Given the description of an element on the screen output the (x, y) to click on. 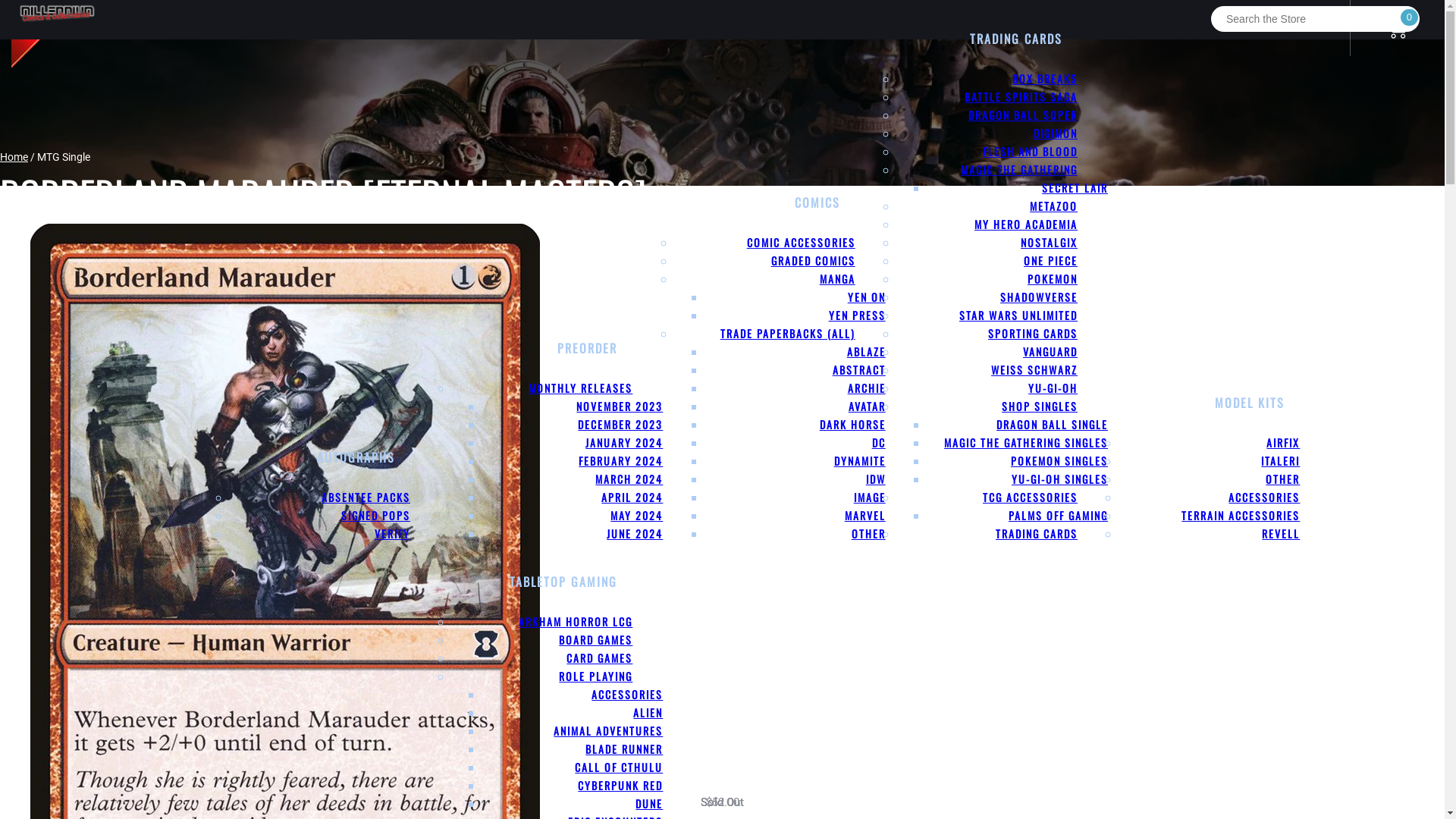
ANIMAL ADVENTURES Element type: text (607, 730)
ARCHIE Element type: text (866, 387)
MANGA Element type: text (837, 278)
AVATAR Element type: text (866, 406)
IMAGE Element type: text (869, 497)
WEISS SCHWARZ Element type: text (1034, 369)
IDW Element type: text (875, 478)
COMICS Element type: text (819, 202)
YEN ON Element type: text (866, 296)
MODEL KITS Element type: text (1251, 402)
AUTOGRAPHS Element type: text (357, 457)
JUNE 2024 Element type: text (634, 533)
DRAGON BALL SUPER Element type: text (1022, 114)
ABSTRACT Element type: text (858, 369)
Home Element type: text (14, 156)
BLADE RUNNER Element type: text (623, 748)
ABSENTEE PACKS Element type: text (365, 497)
ARKHAM HORROR LCG Element type: text (575, 621)
YU-GI-OH SINGLES Element type: text (1059, 478)
DUNE Element type: text (648, 803)
YEN PRESS Element type: text (856, 315)
CYBERPUNK RED Element type: text (619, 785)
OTHER Element type: text (868, 533)
SIGNED POPS Element type: text (375, 515)
TRADING CARDS Element type: text (1018, 38)
POKEMON SINGLES Element type: text (1058, 460)
CARD GAMES Element type: text (599, 657)
VANGUARD Element type: text (1049, 351)
JANUARY 2024 Element type: text (623, 442)
MAGIC THE GATHERING Element type: text (1018, 169)
STAR WARS UNLIMITED Element type: text (1018, 315)
TABLETOP GAMING Element type: text (565, 581)
DYNAMITE Element type: text (859, 460)
ABLAZE Element type: text (866, 351)
BOX BREAKS Element type: text (1044, 78)
PREORDER Element type: text (589, 347)
POKEMON Element type: text (1052, 278)
BOARD GAMES Element type: text (595, 639)
DC Element type: text (878, 442)
MONTHLY RELEASES Element type: text (580, 387)
MARVEL Element type: text (864, 515)
YU-GI-OH Element type: text (1052, 387)
PALMS OFF GAMING Element type: text (1057, 515)
APRIL 2024 Element type: text (631, 497)
AIRFIX Element type: text (1282, 442)
ITALERI Element type: text (1280, 460)
TERRAIN ACCESSORIES Element type: text (1240, 515)
BATTLE SPIRITS SAGA Element type: text (1020, 96)
SECRET LAIR Element type: text (1074, 187)
MARCH 2024 Element type: text (628, 478)
ROLE PLAYING Element type: text (595, 676)
SHOP SINGLES Element type: text (1039, 406)
TCG ACCESSORIES Element type: text (1029, 497)
OTHER Element type: text (1282, 478)
FLESH AND BLOOD Element type: text (1029, 151)
ALIEN Element type: text (647, 712)
TRADING CARDS Element type: text (1036, 533)
VERIFY Element type: text (392, 533)
SHADOWVERSE Element type: text (1038, 296)
COMIC ACCESSORIES Element type: text (800, 242)
ACCESSORIES Element type: text (626, 694)
NOVEMBER 2023 Element type: text (619, 406)
MAGIC THE GATHERING SINGLES Element type: text (1025, 442)
DECEMBER 2023 Element type: text (619, 424)
SPORTING CARDS Element type: text (1032, 333)
DIGIMON Element type: text (1055, 133)
CALL OF CTHULU Element type: text (618, 767)
REVELL Element type: text (1280, 533)
GRADED COMICS Element type: text (813, 260)
MAY 2024 Element type: text (636, 515)
FEBRUARY 2024 Element type: text (620, 460)
ACCESSORIES Element type: text (1263, 497)
DRAGON BALL SINGLE Element type: text (1051, 424)
TRADE PAPERBACKS (ALL) Element type: text (787, 333)
METAZOO Element type: text (1053, 205)
DARK HORSE Element type: text (852, 424)
ONE PIECE Element type: text (1050, 260)
NOSTALGIX Element type: text (1048, 242)
MY HERO ACADEMIA Element type: text (1025, 224)
